Given the description of an element on the screen output the (x, y) to click on. 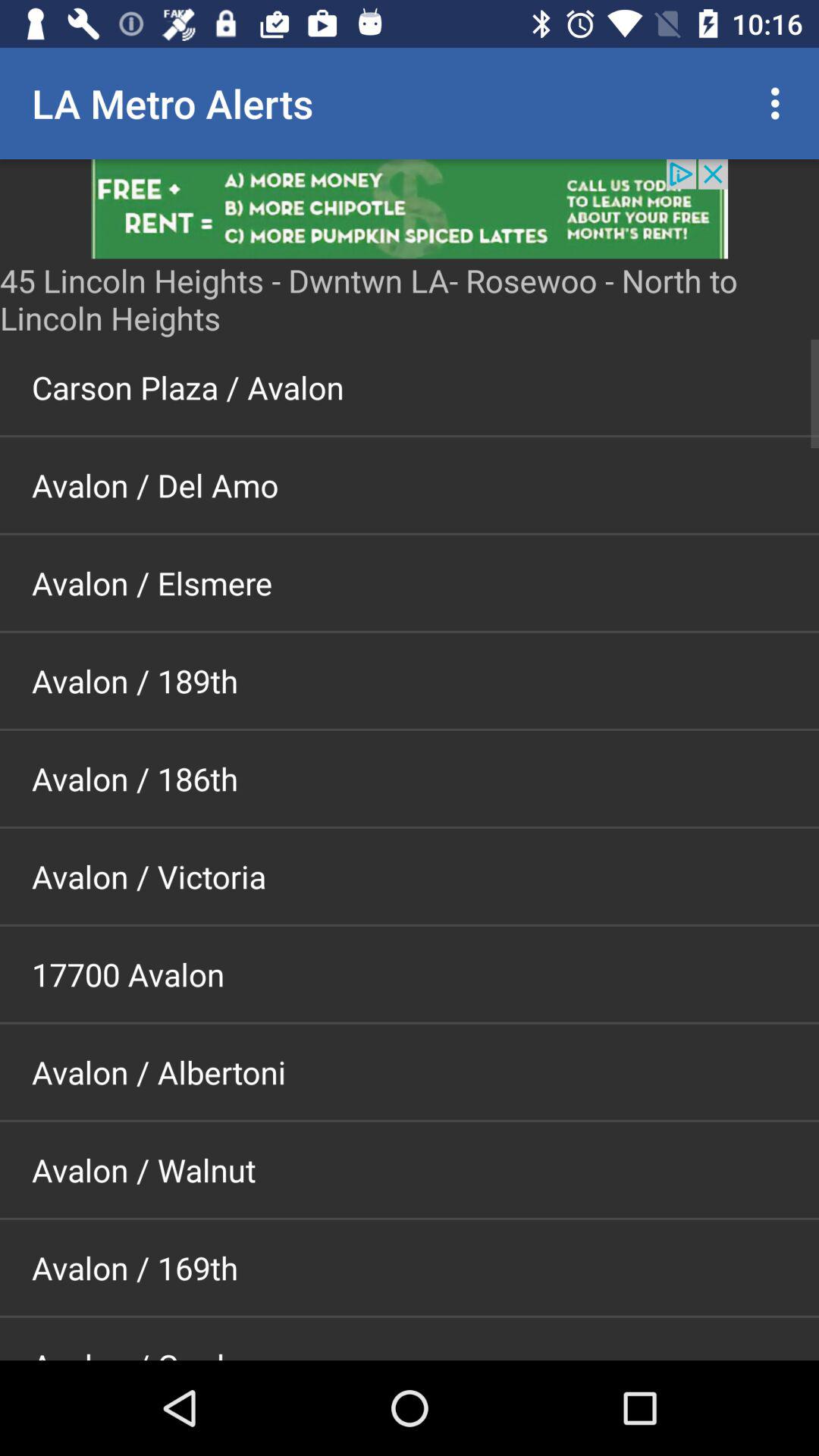
visit advertised website (409, 208)
